Given the description of an element on the screen output the (x, y) to click on. 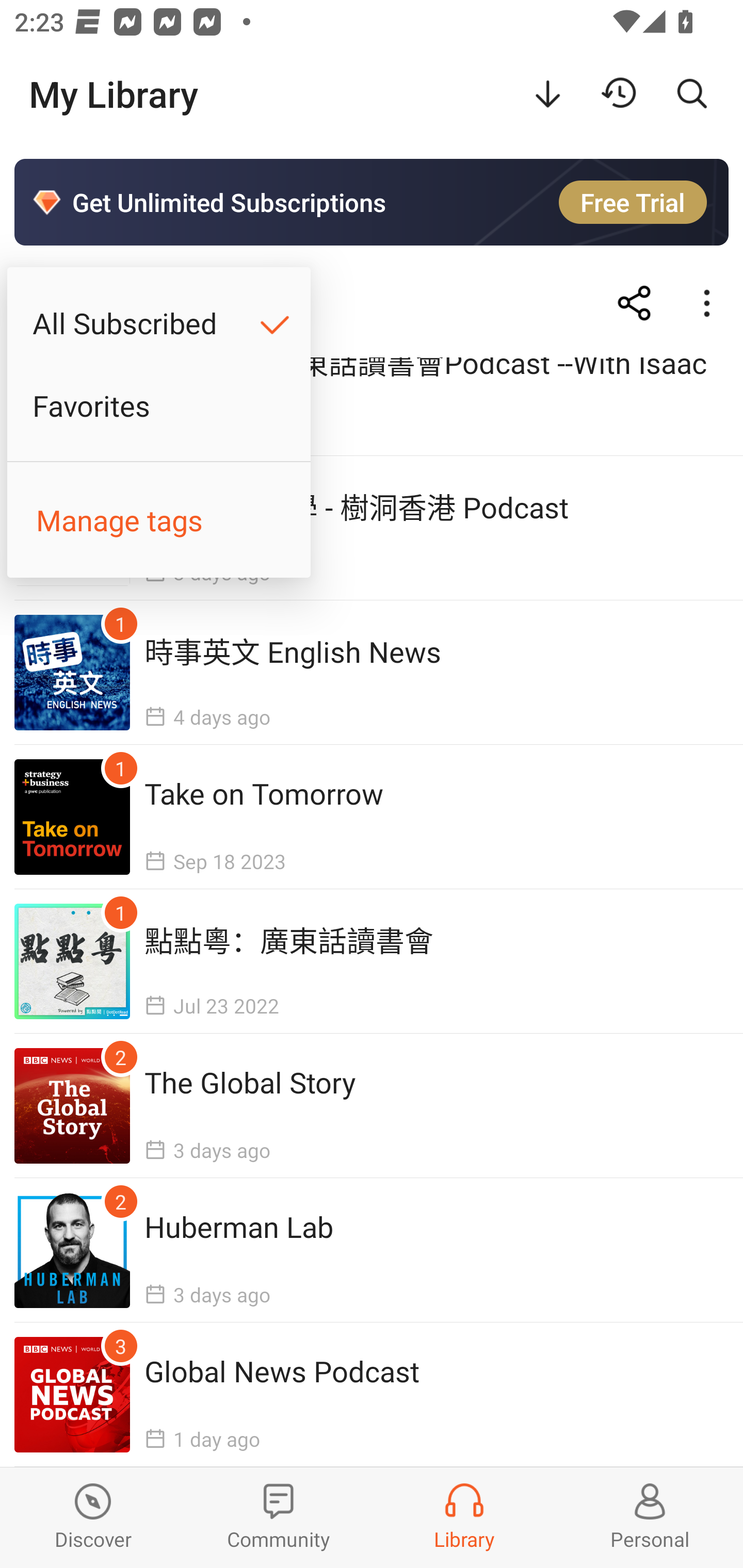
All Subscribed (158, 322)
Favorites (158, 404)
Manage tags (158, 519)
